Given the description of an element on the screen output the (x, y) to click on. 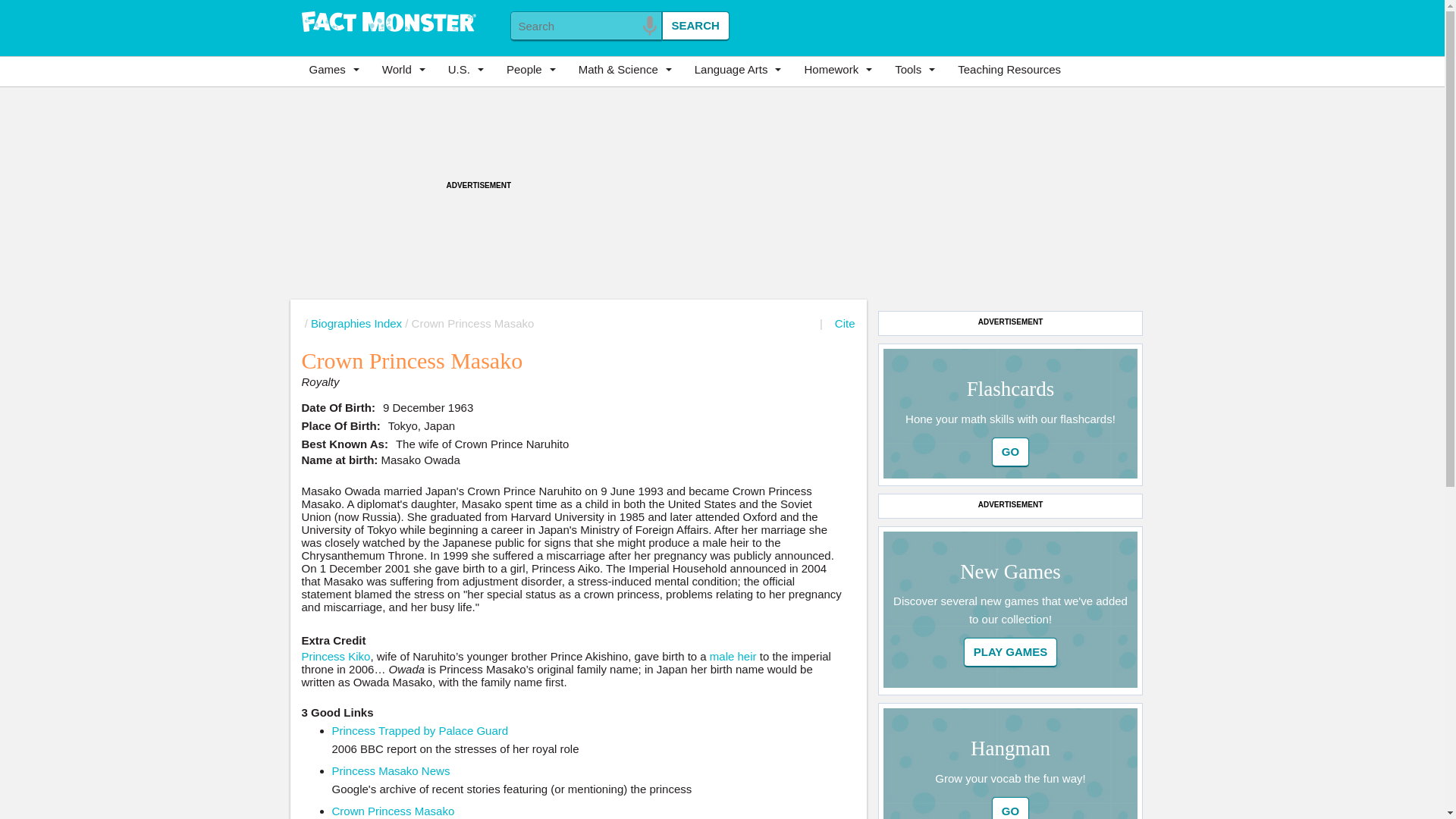
Play Games (1010, 652)
Enter the terms you wish to search for. (585, 25)
Visit our teacher resource sister site! (1009, 69)
Go (1010, 807)
Go (1010, 451)
Go (1010, 451)
Search (695, 25)
Home (387, 22)
U.S. (470, 69)
Games (337, 69)
Go (1010, 807)
World (407, 69)
Go (1010, 652)
Search (695, 25)
Search (695, 25)
